Given the description of an element on the screen output the (x, y) to click on. 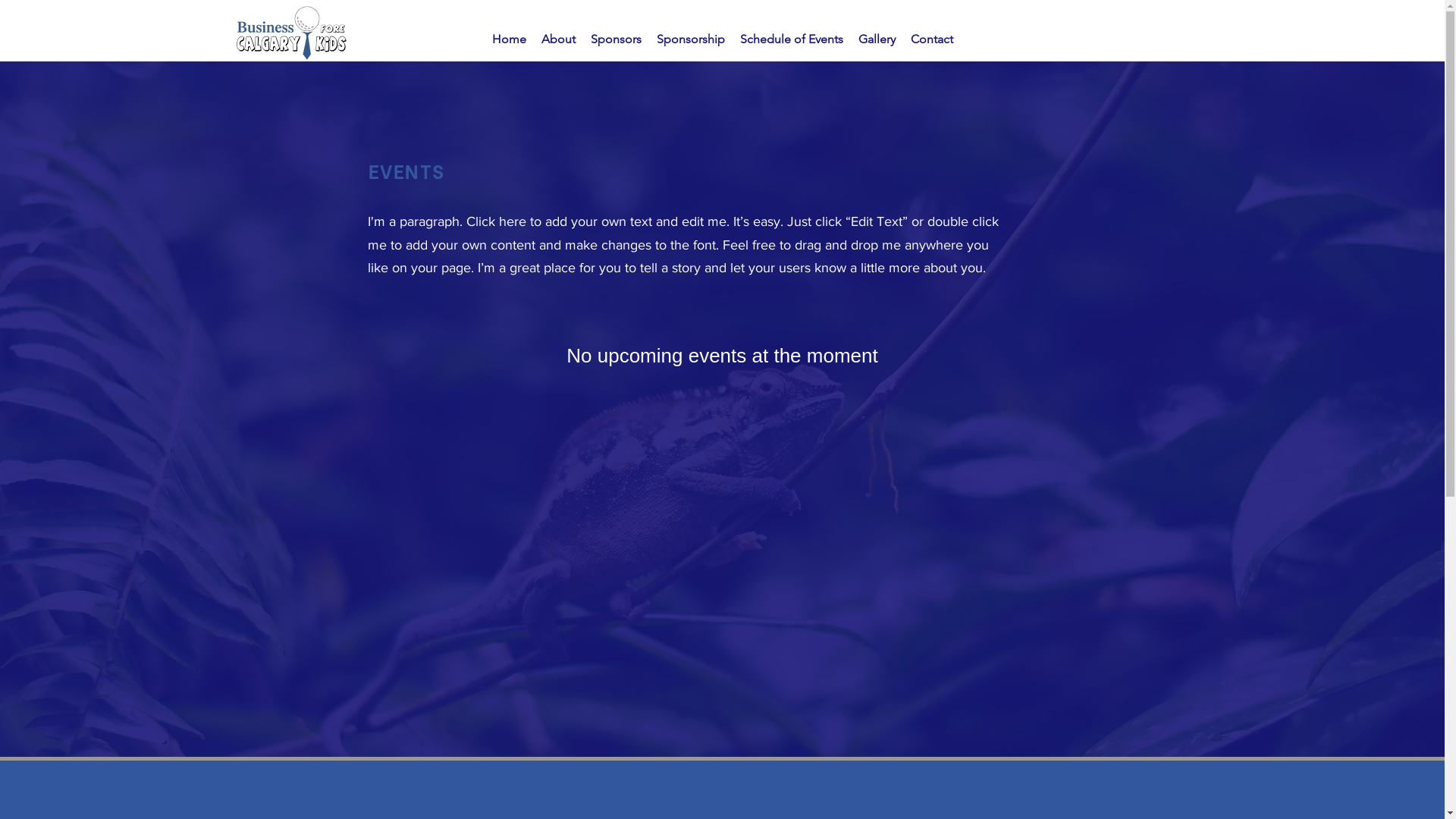
Contact Element type: text (931, 39)
Schedule of Events Element type: text (791, 39)
Gallery Element type: text (876, 39)
Sponsorship Element type: text (690, 39)
Sponsors Element type: text (615, 39)
About Element type: text (558, 39)
Home Element type: text (508, 39)
